Given the description of an element on the screen output the (x, y) to click on. 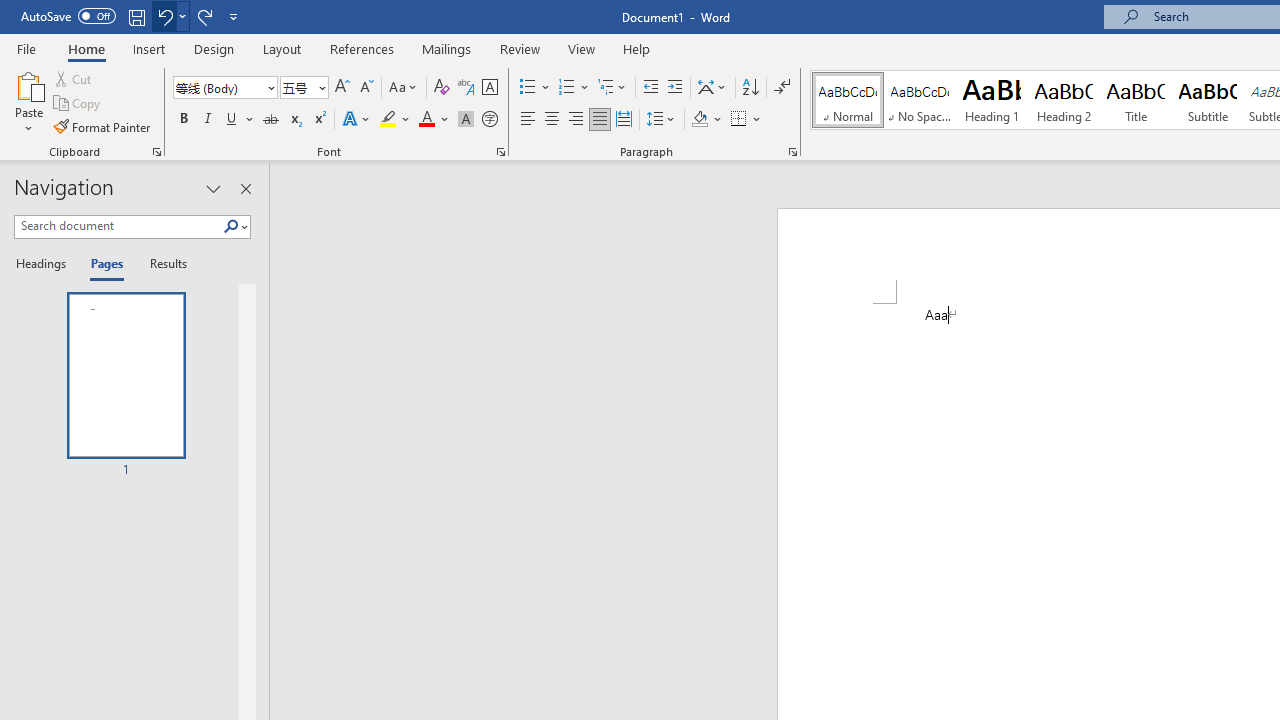
Shading (706, 119)
Numbering (573, 87)
Asian Layout (712, 87)
Title (1135, 100)
Character Border (489, 87)
Design (214, 48)
Font (218, 87)
Change Case (404, 87)
Superscript (319, 119)
Borders (746, 119)
Underline (239, 119)
Help (637, 48)
View (582, 48)
